Given the description of an element on the screen output the (x, y) to click on. 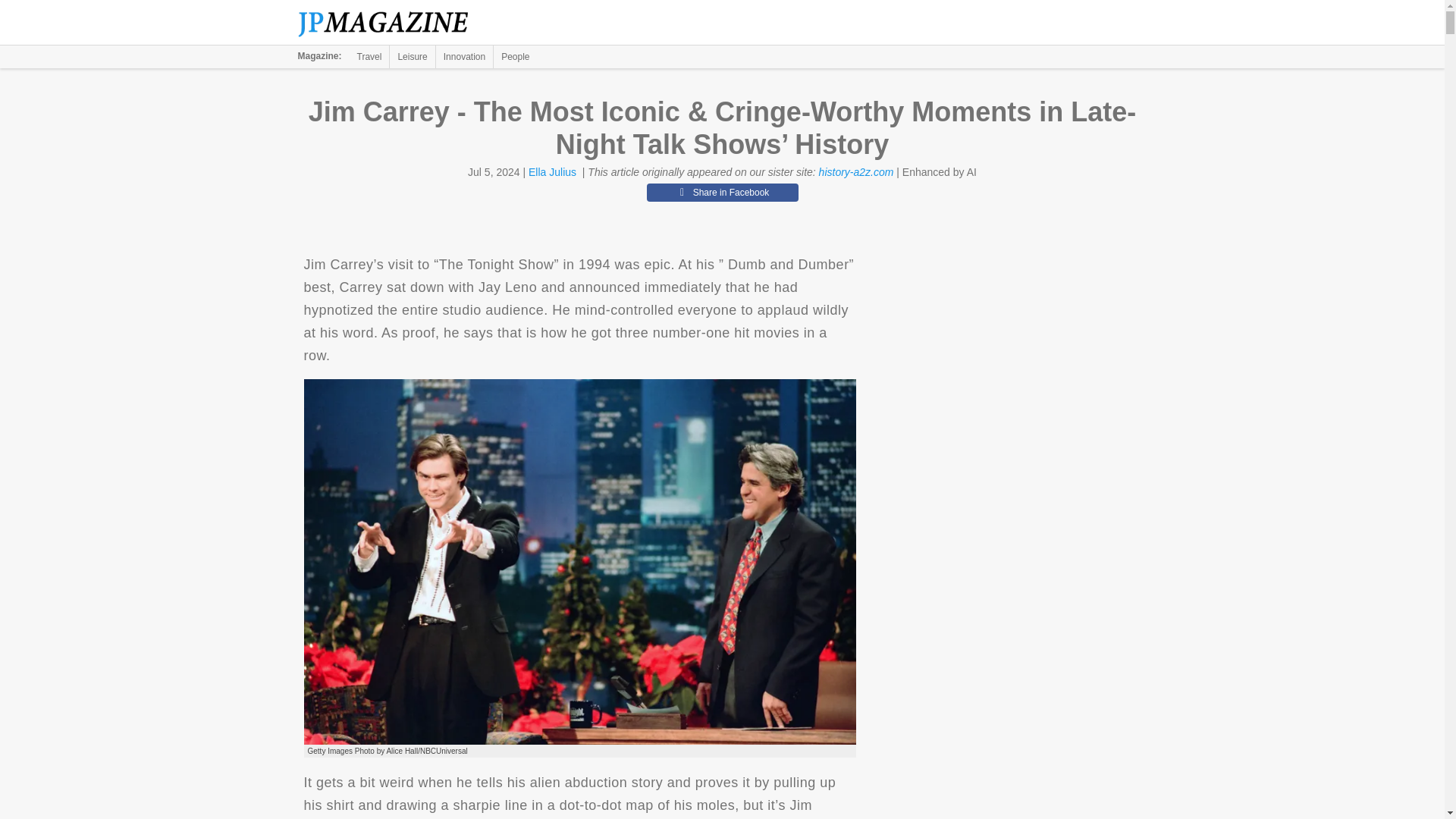
People (515, 56)
Share in Facebook (721, 192)
Innovation (464, 56)
Ella Julius (552, 172)
The Jerusalem Post Magazine (391, 22)
Leisure (411, 56)
history-a2z.com (855, 172)
Travel (369, 56)
